Given the description of an element on the screen output the (x, y) to click on. 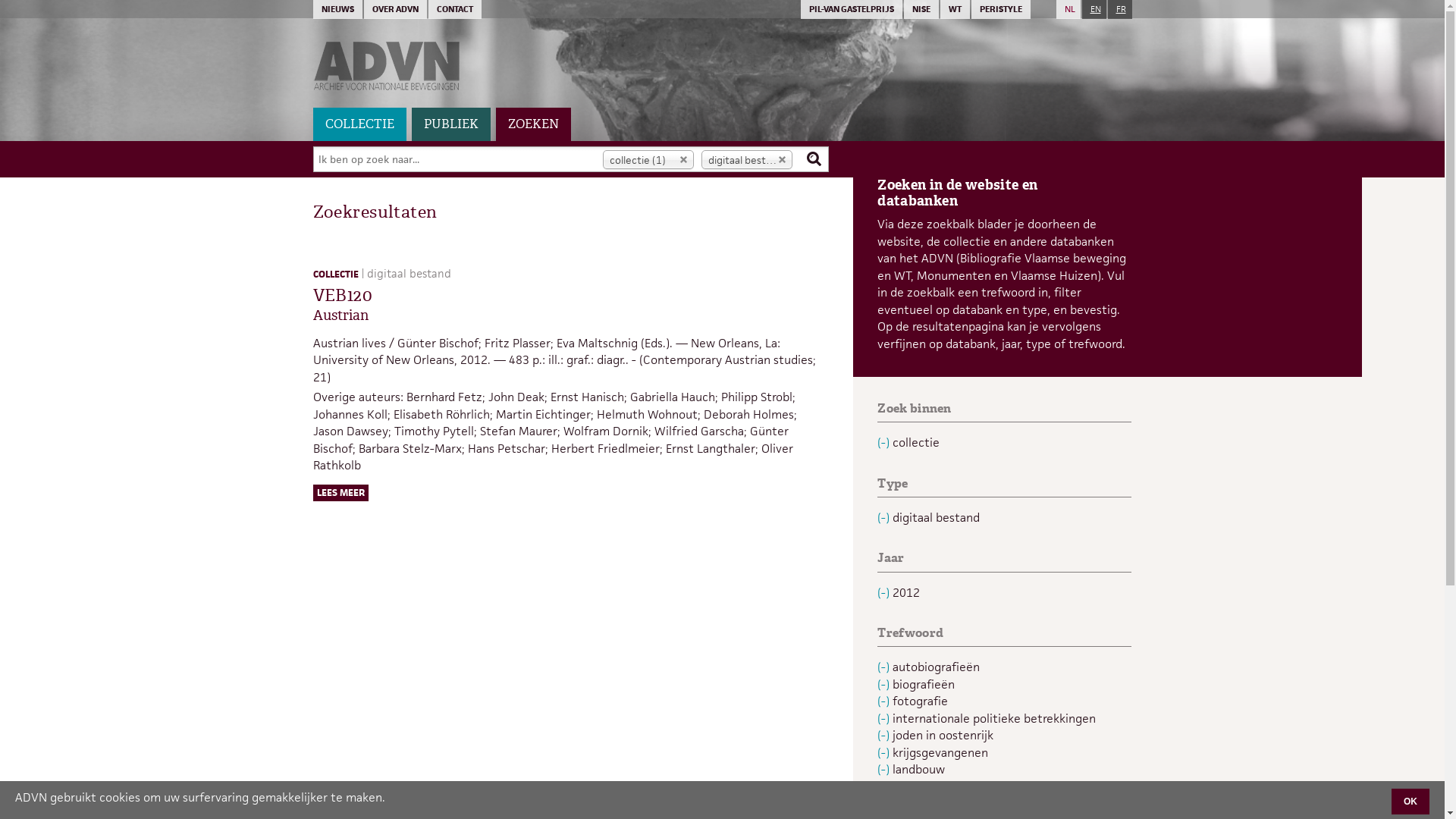
Home Element type: hover (721, 68)
OVER ADVN Element type: text (395, 9)
NIEUWS Element type: text (336, 9)
PERISTYLE Element type: text (999, 9)
(-)
Remove krijgsgevangenen filter Element type: text (884, 752)
NL Element type: text (1067, 9)
collectie (1) Element type: text (647, 159)
digitaal bestand (1) Element type: text (746, 159)
OK Element type: text (1410, 801)
(-)
Remove fotografie filter Element type: text (884, 701)
Zoeken Element type: text (813, 162)
LEES MEER Element type: text (339, 492)
(-)
Remove oostenrijk filter Element type: text (884, 803)
WT Element type: text (954, 9)
EN Element type: text (1093, 9)
(-)
Remove oorlogsmisdaden filter Element type: text (884, 786)
(-)
Remove internationale politieke betrekkingen filter Element type: text (884, 718)
FR Element type: text (1119, 9)
(-)
Remove digitaal bestand filter Element type: text (884, 517)
VEB120 Element type: text (342, 295)
Submit Element type: text (26, 12)
(-)
Remove collectie filter Element type: text (884, 442)
ZOEKEN Element type: text (533, 124)
COLLECTIE Element type: text (358, 124)
(-)
Remove 2012 filter Element type: text (884, 592)
PUBLIEK Element type: text (450, 124)
(-)
Remove landbouw filter Element type: text (884, 769)
(-)
Remove joden in oostenrijk filter Element type: text (884, 735)
NISE Element type: text (920, 9)
CONTACT Element type: text (453, 9)
PIL-VAN GASTELPRIJS Element type: text (851, 9)
